Given the description of an element on the screen output the (x, y) to click on. 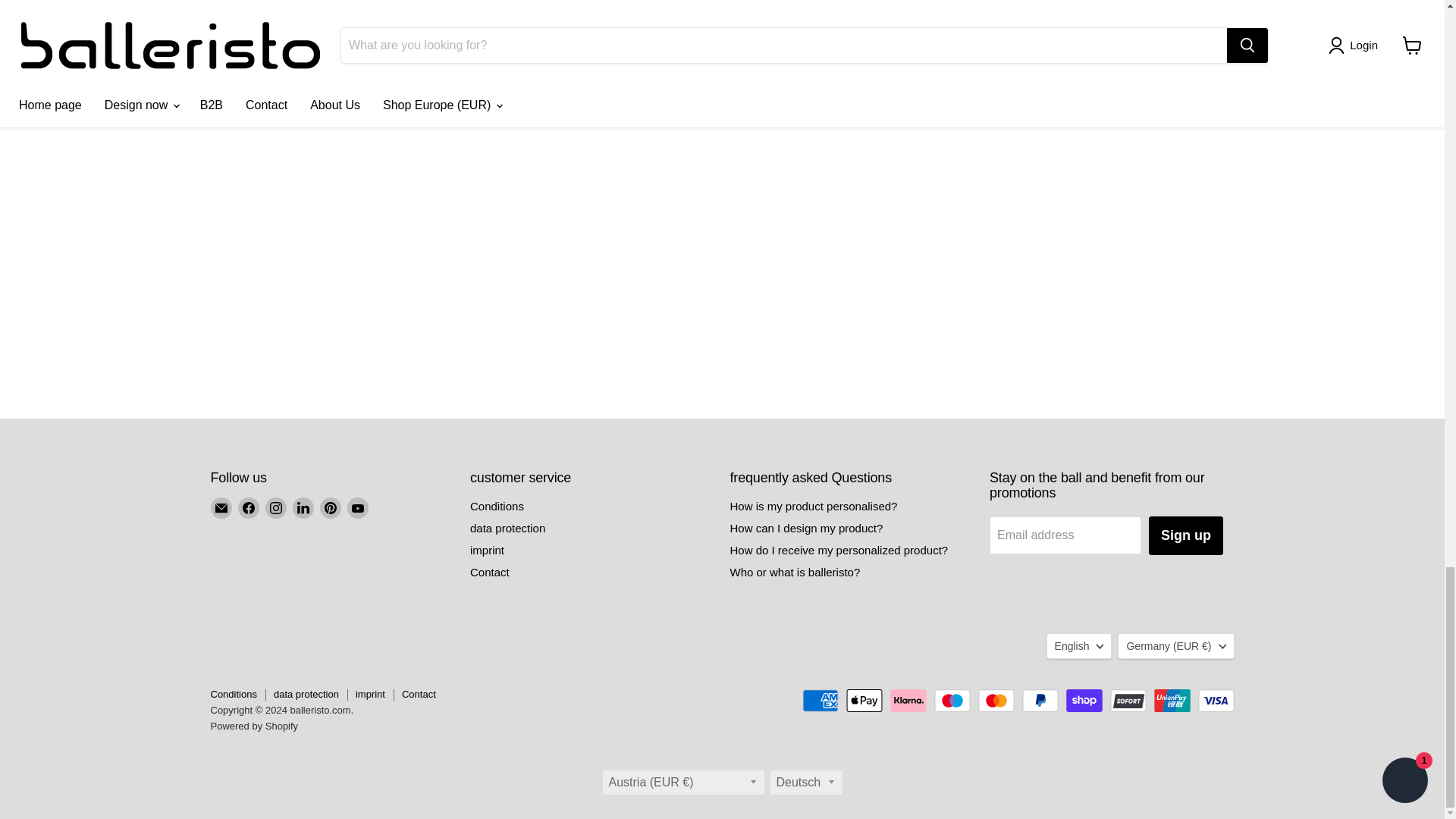
YouTube (357, 507)
SOFORT (1128, 700)
Instagram (275, 507)
Facebook (248, 507)
American Express (820, 700)
Maestro (952, 700)
Apple Pay (863, 700)
Pinterest (330, 507)
LinkedIn (303, 507)
Shop Pay (1083, 700)
Klarna (907, 700)
Union Pay (1172, 700)
PayPal (1040, 700)
Mastercard (996, 700)
Email (221, 507)
